Given the description of an element on the screen output the (x, y) to click on. 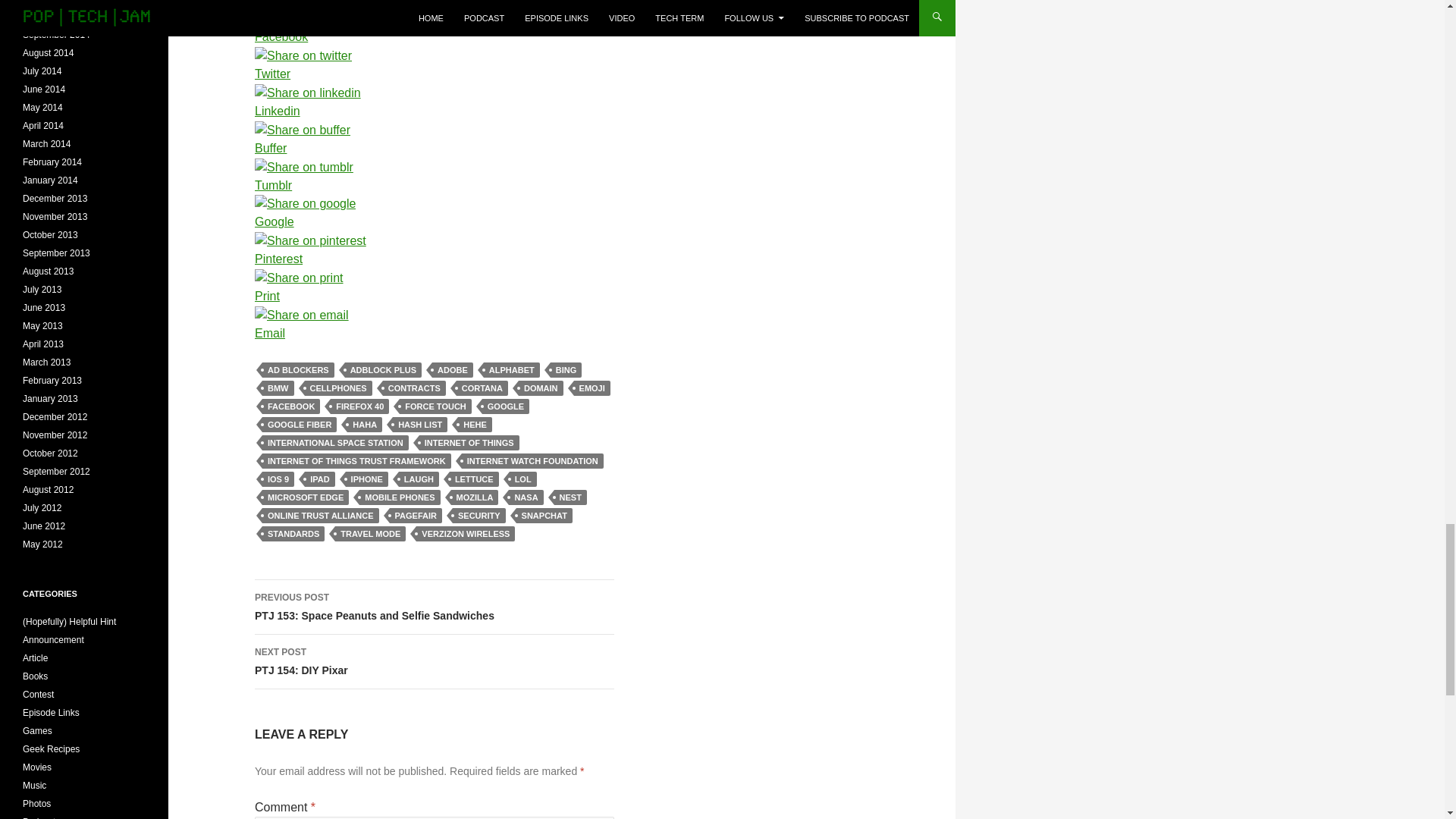
twitter (303, 55)
Tumblr (310, 185)
Buffer (310, 148)
Linkedin (310, 111)
Google (310, 221)
linkedin (307, 93)
Facebook (310, 36)
google (304, 203)
pinterest (310, 240)
facebook (267, 14)
tumblr (303, 167)
Twitter (310, 74)
buffer (302, 130)
